Given the description of an element on the screen output the (x, y) to click on. 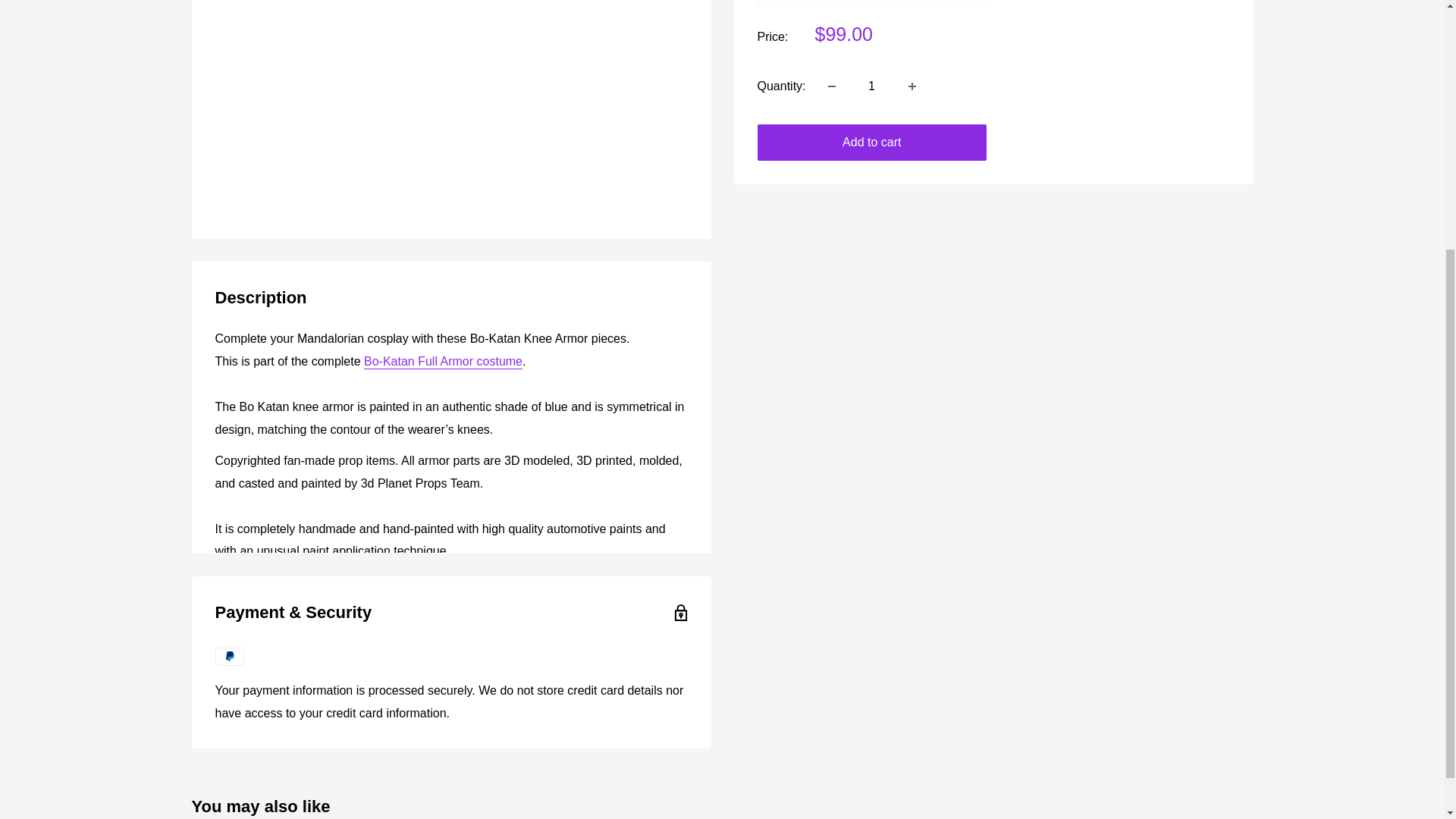
Decrease quantity by 1 (831, 86)
1 (871, 86)
Bo-Katan Armor Cosplay Costume (443, 360)
Increase quantity by 1 (912, 86)
